Given the description of an element on the screen output the (x, y) to click on. 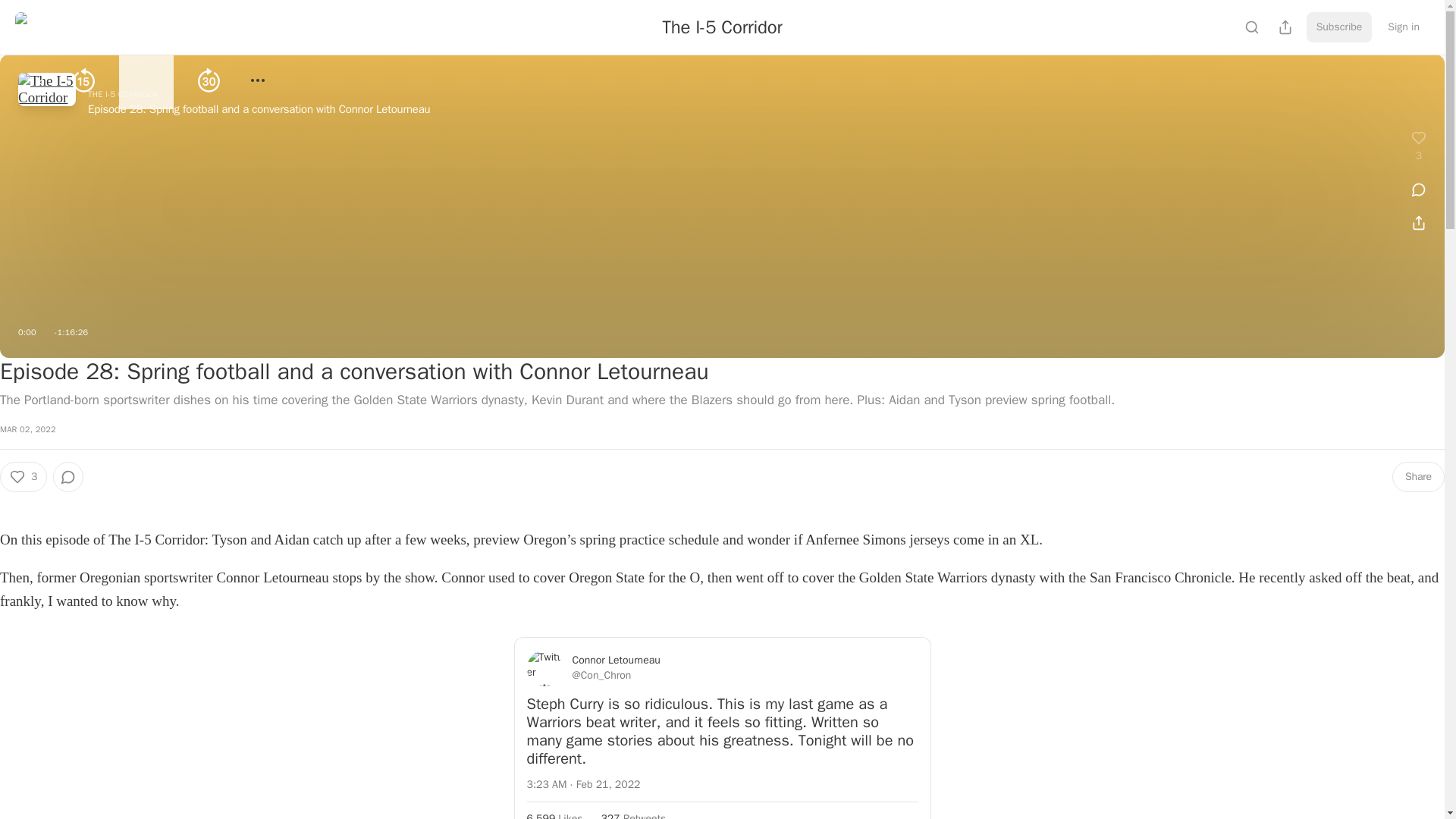
The I-5 Corridor (722, 26)
Subscribe (1339, 27)
Share (1417, 476)
Sign in (1403, 27)
3 (23, 476)
